Given the description of an element on the screen output the (x, y) to click on. 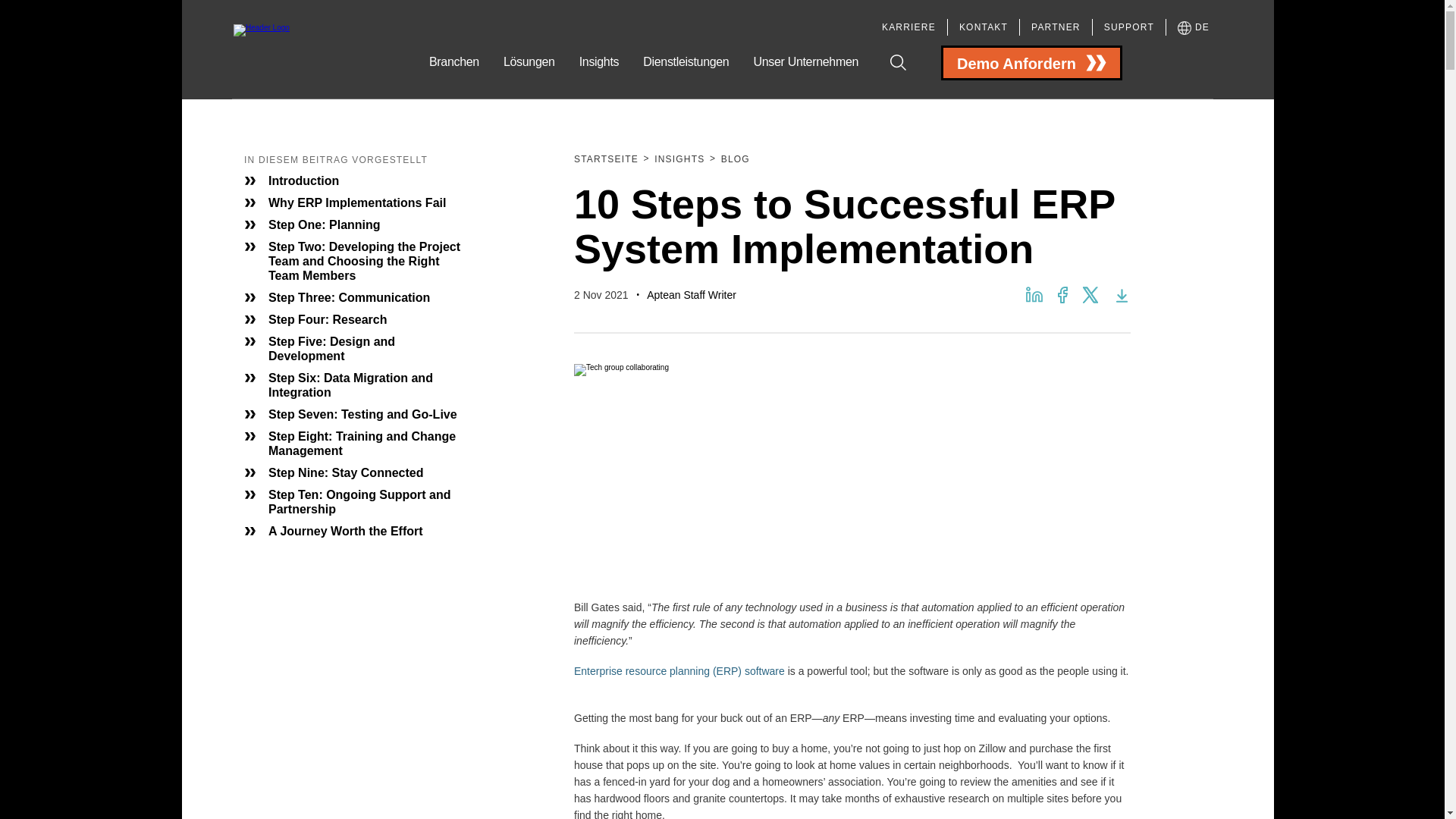
PARTNER (1055, 27)
KARRIERE (908, 27)
Dienstleistungen (686, 75)
Branchen (454, 75)
SUPPORT (1128, 27)
Unser Unternehmen (805, 75)
Demo Anfordern (1031, 62)
KONTAKT (983, 27)
